Given the description of an element on the screen output the (x, y) to click on. 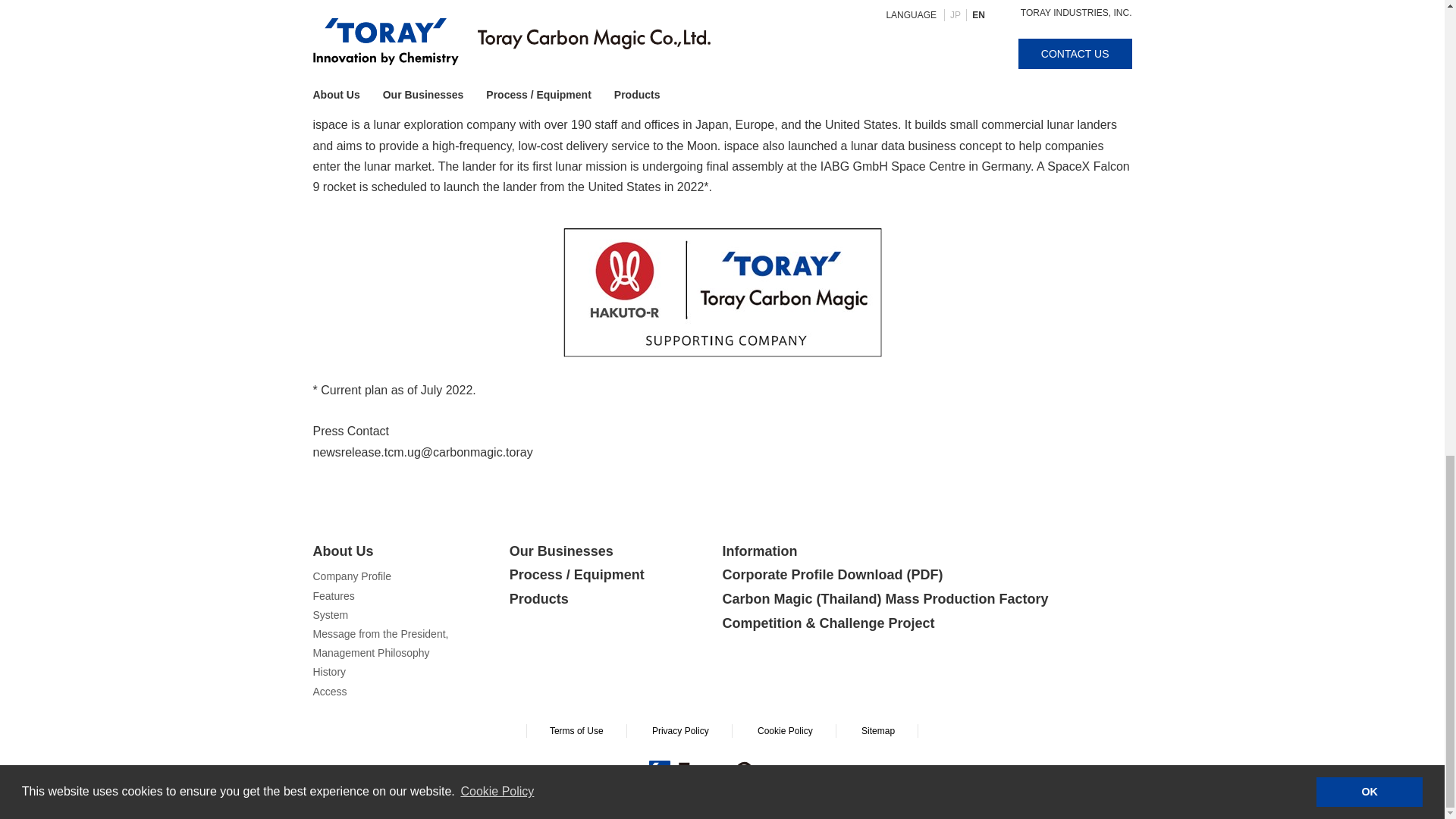
Our Businesses (607, 551)
Products (607, 599)
Information (926, 551)
History (329, 671)
System (330, 614)
Message from the President, Management Philosophy (380, 643)
Access (329, 691)
Company Profile (352, 576)
Features (333, 595)
About Us (410, 551)
